Given the description of an element on the screen output the (x, y) to click on. 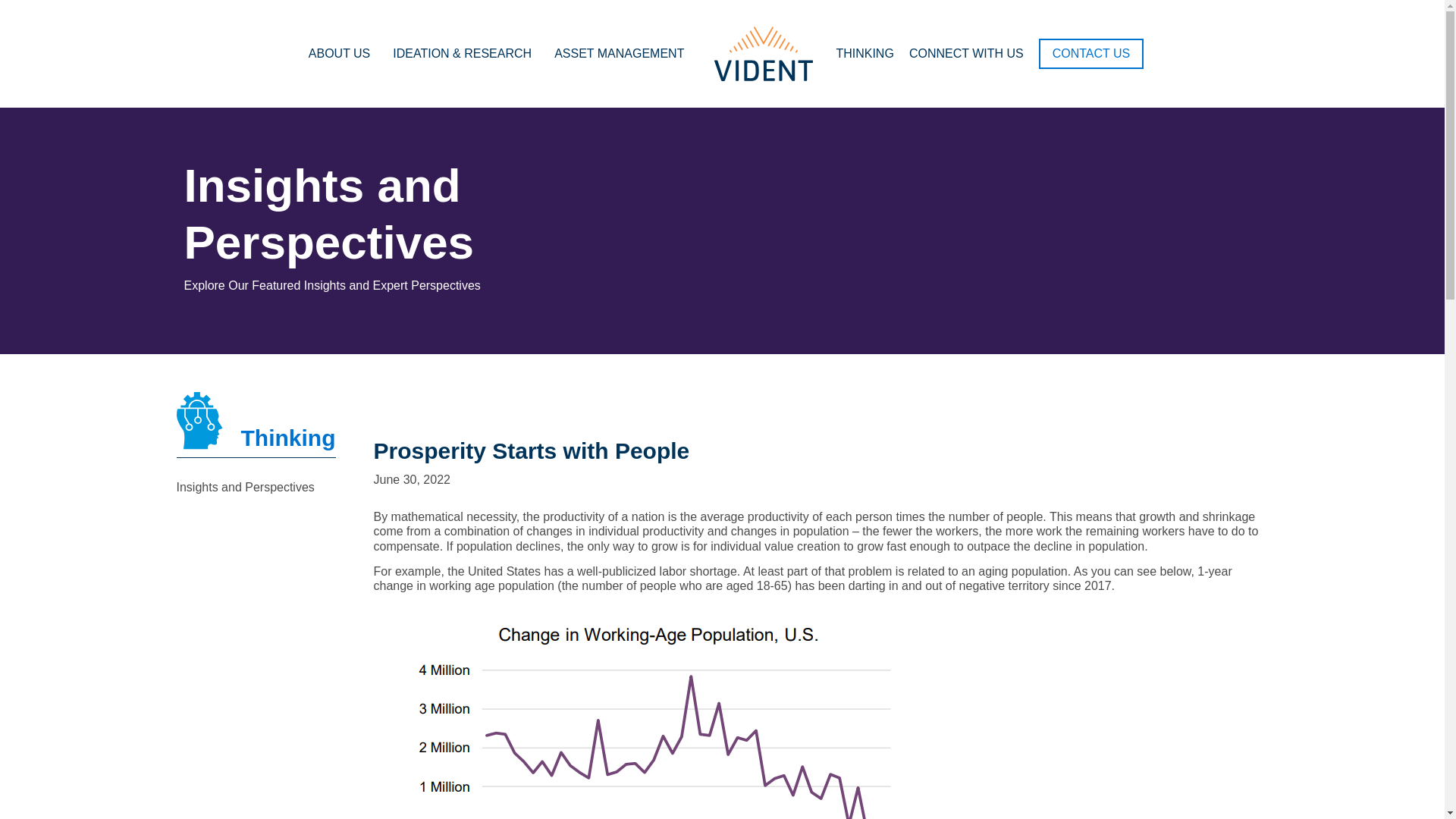
ASSET MANAGEMENT (622, 52)
ABOUT US (343, 52)
